Given the description of an element on the screen output the (x, y) to click on. 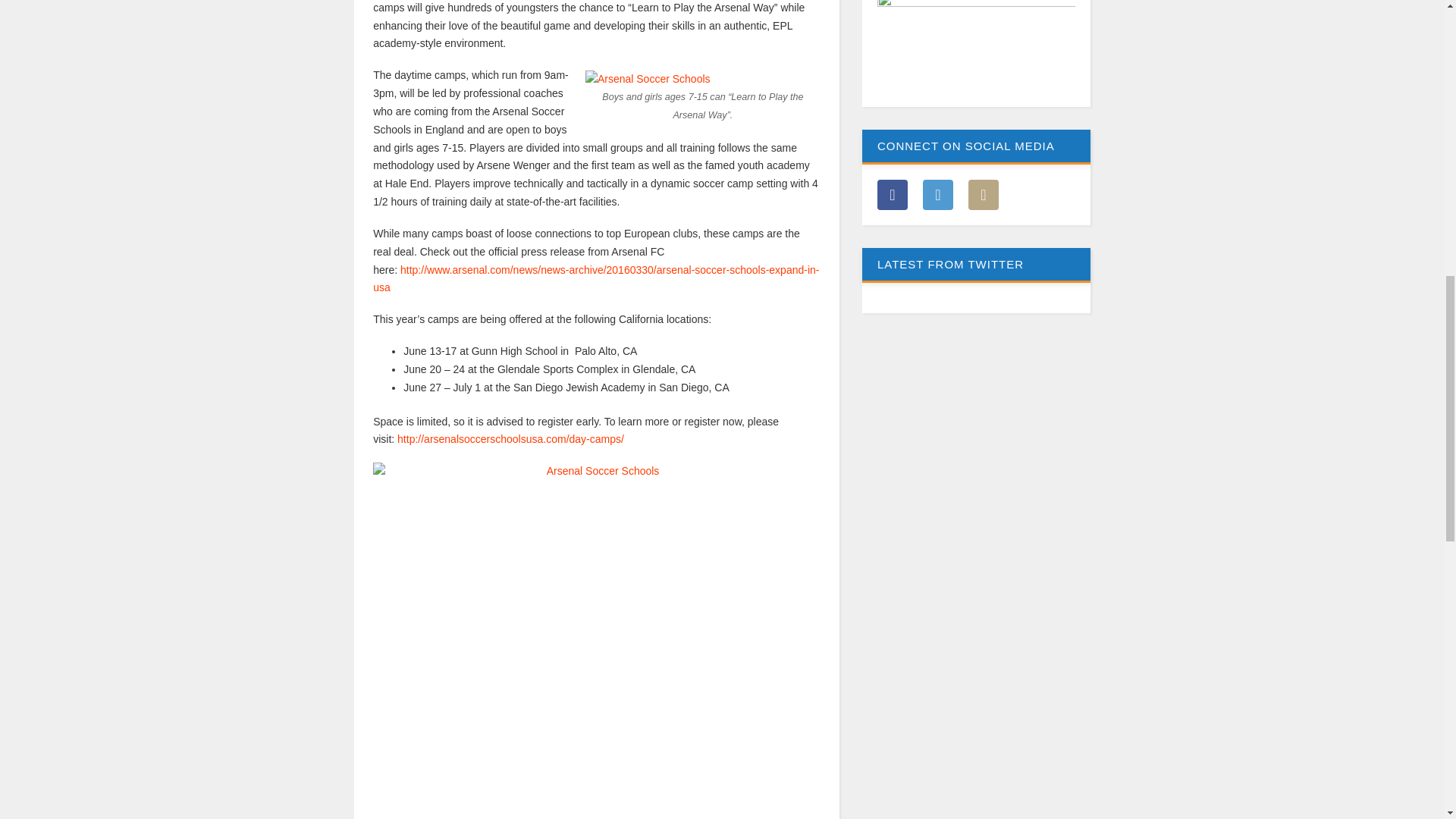
Arsenal Soccer Schools Day Camps (596, 611)
LATEST FROM TWITTER (975, 280)
instagram (938, 194)
facebook (892, 194)
Arsenal Soccer Schools Day Camps (510, 439)
Arsenal Soccer Schools Day Camps (647, 78)
